Given the description of an element on the screen output the (x, y) to click on. 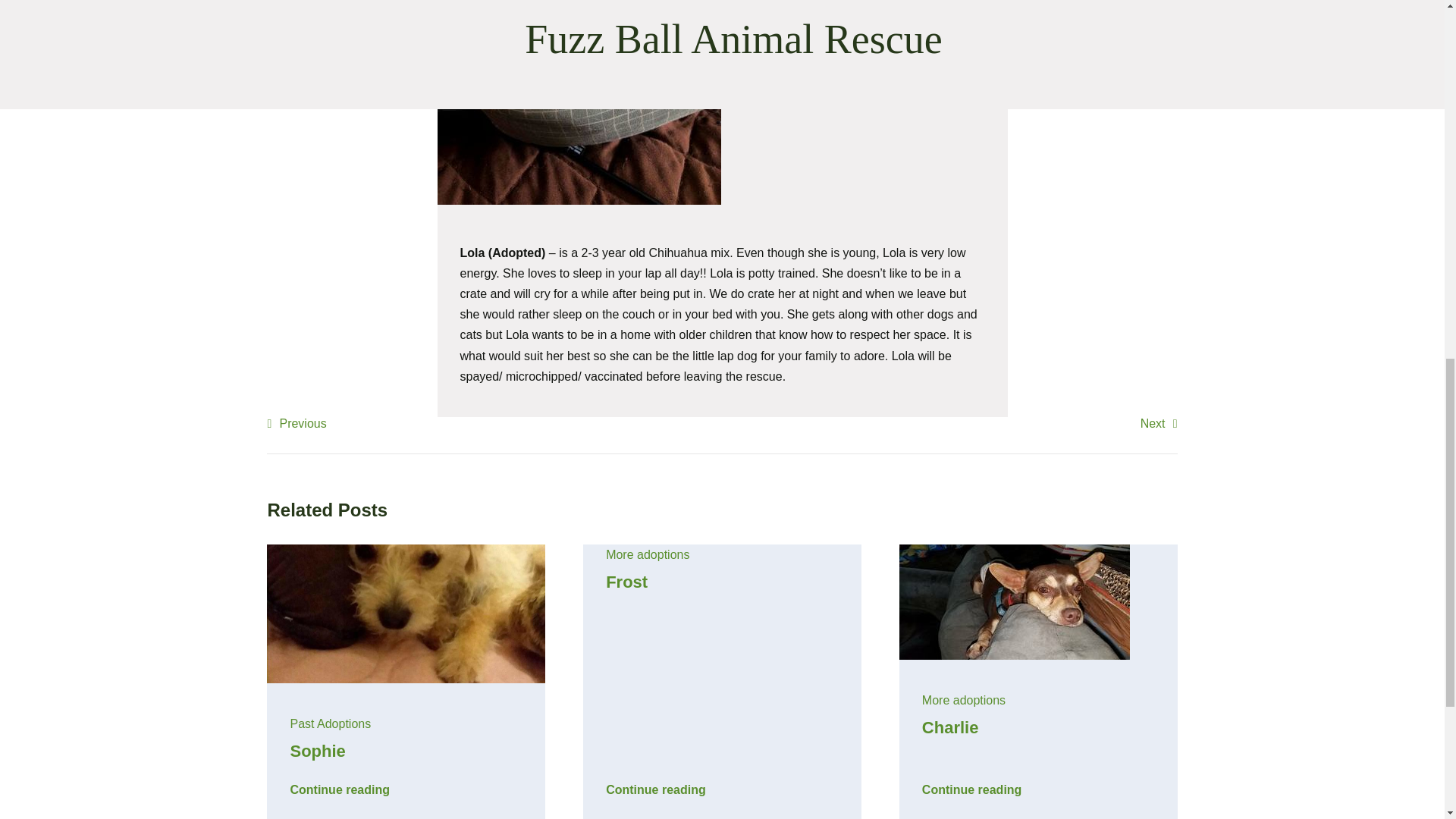
More adoptions (646, 554)
Next (1158, 423)
Sophie (317, 751)
More adoptions (963, 699)
Continue reading (655, 784)
lola (578, 102)
Charlie (949, 727)
Continue reading (339, 784)
Past Adoptions (330, 723)
Continue reading (971, 784)
Previous (296, 423)
Past Adoptions (330, 723)
More adoptions (963, 699)
More adoptions (646, 554)
Frost (626, 581)
